Given the description of an element on the screen output the (x, y) to click on. 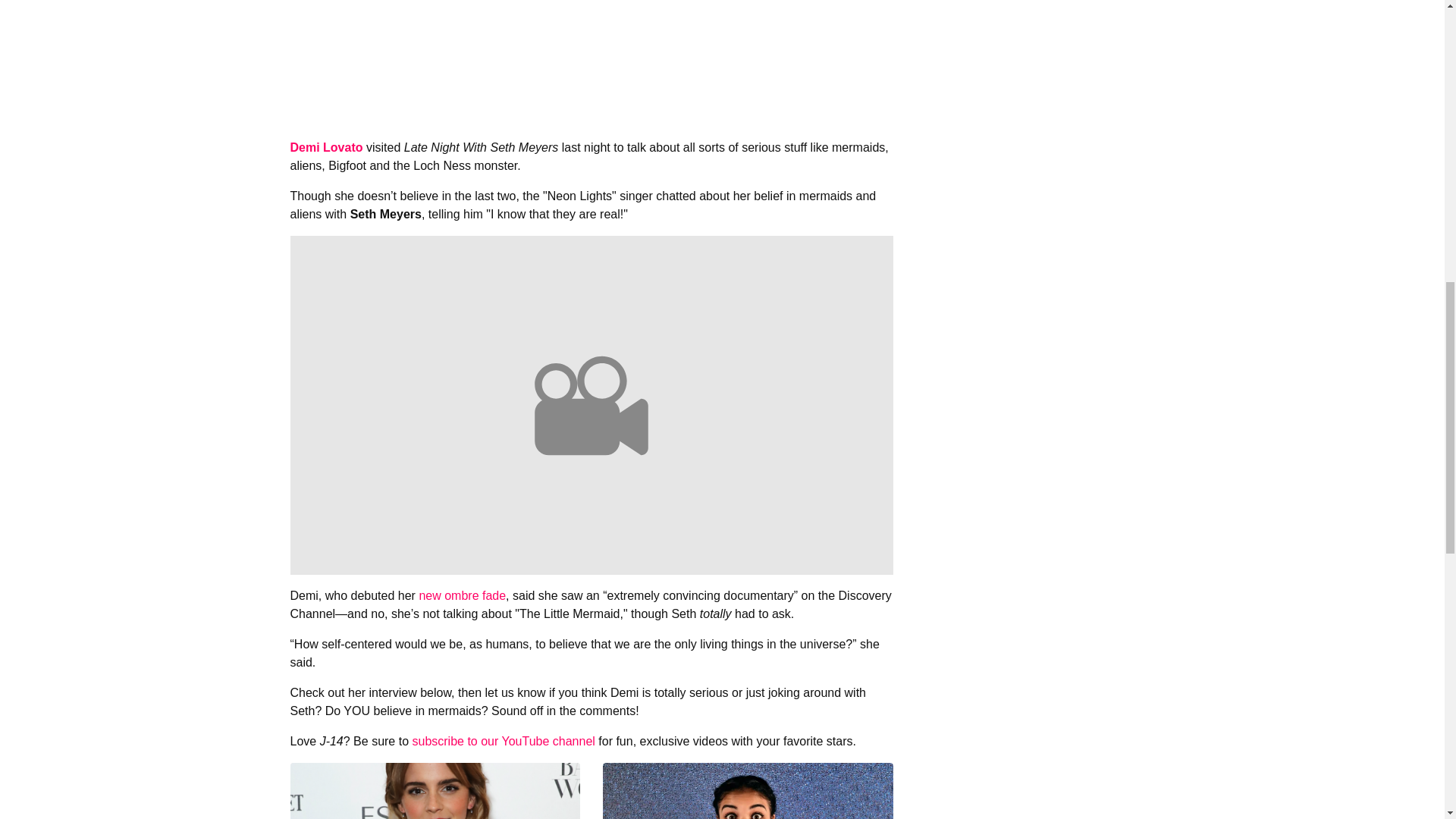
subscribe to our YouTube channel (503, 740)
Demi Lovato (325, 146)
new ombre fade (462, 594)
